Given the description of an element on the screen output the (x, y) to click on. 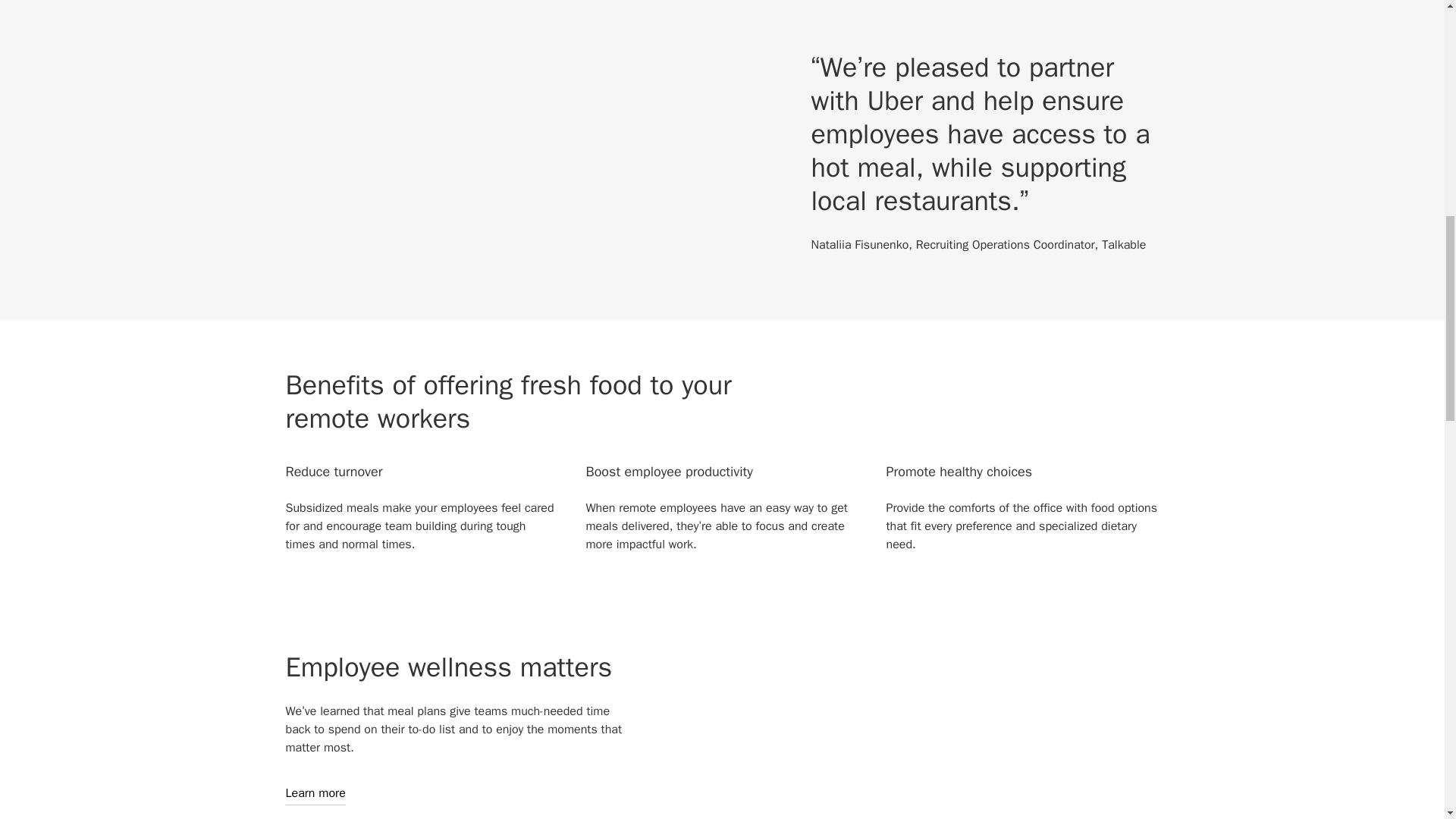
Learn more (315, 793)
